Given the description of an element on the screen output the (x, y) to click on. 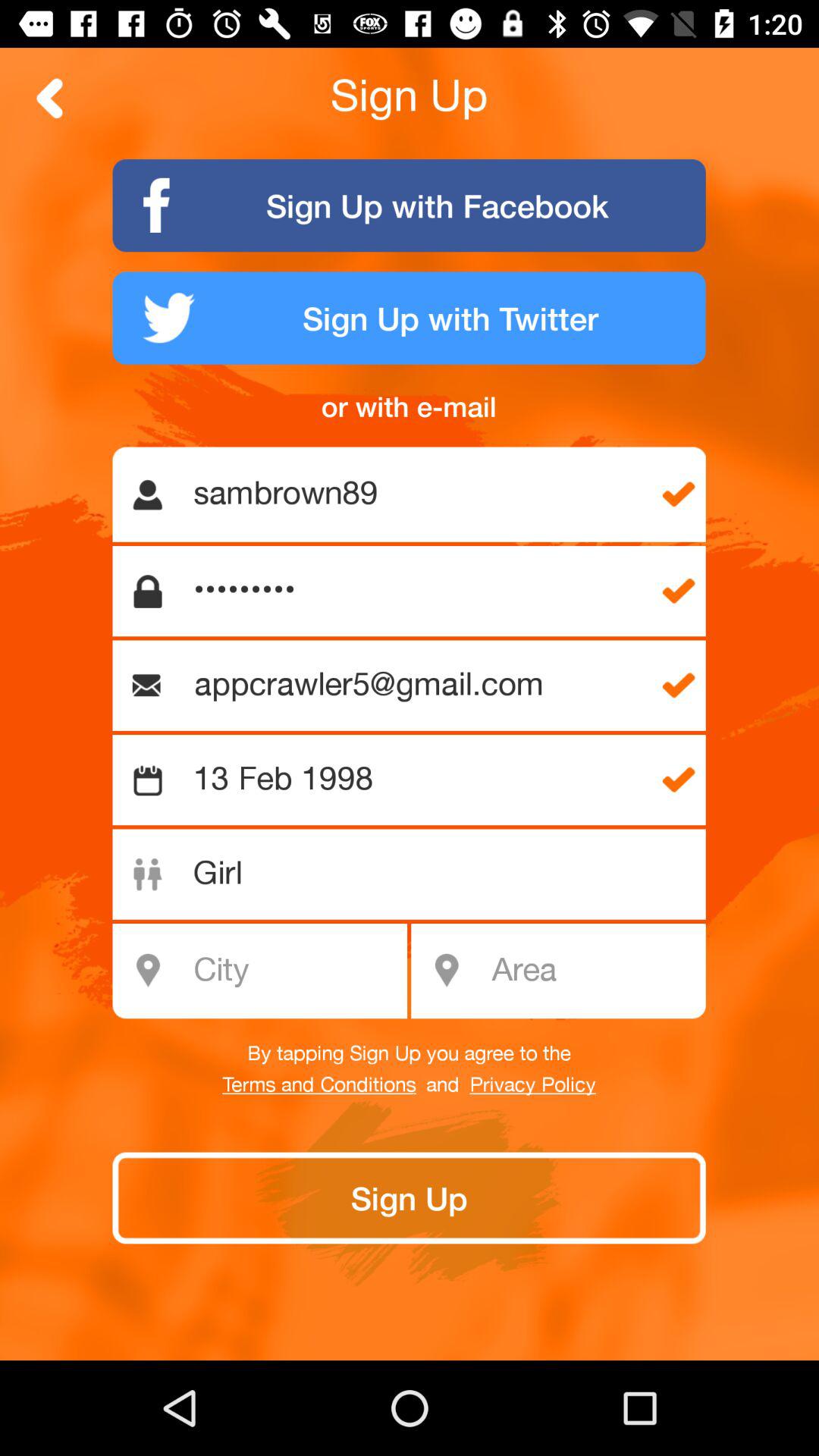
launch the appcrawler5@gmail.com icon (416, 685)
